Given the description of an element on the screen output the (x, y) to click on. 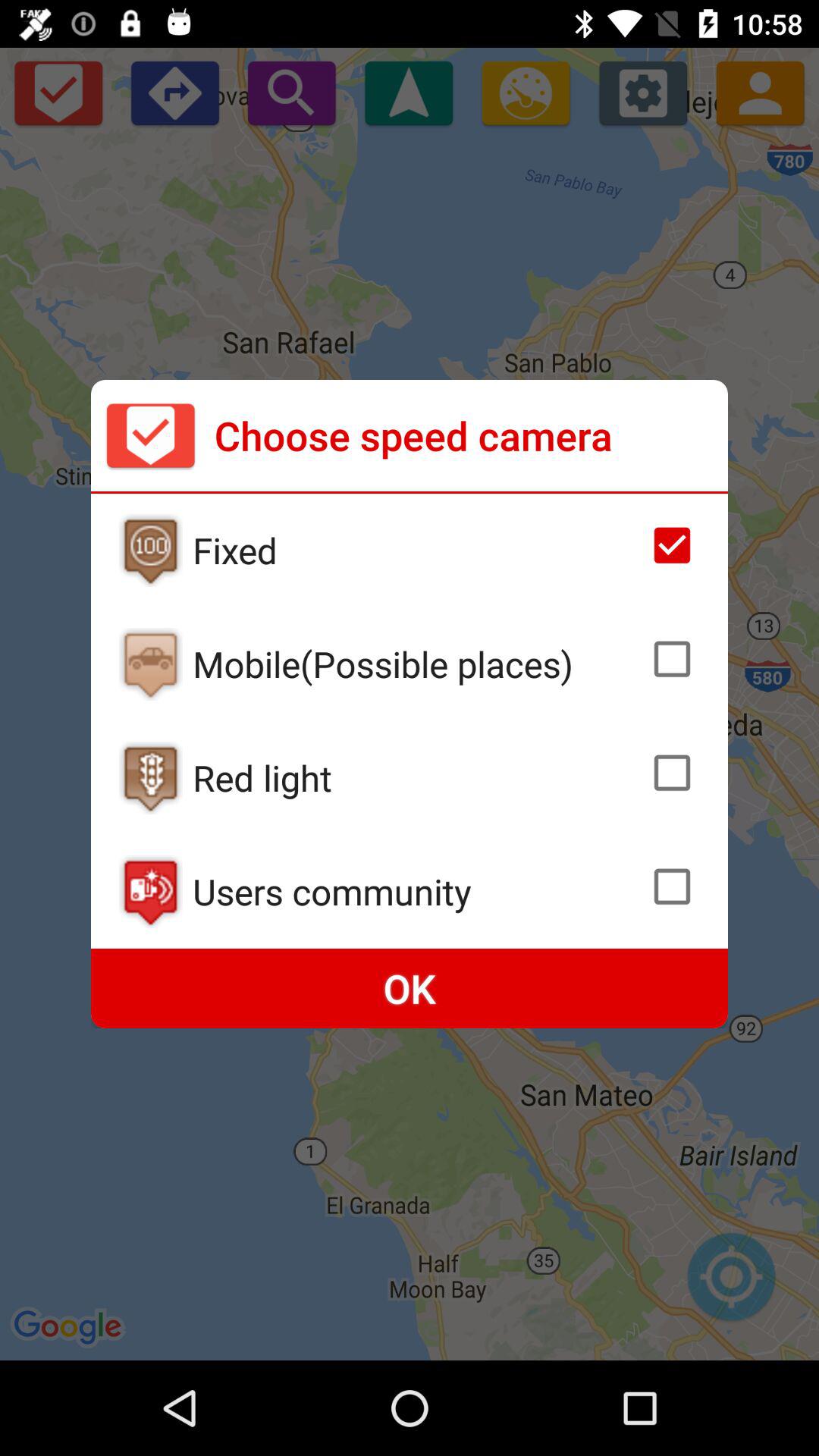
flip until the users community item (416, 891)
